Given the description of an element on the screen output the (x, y) to click on. 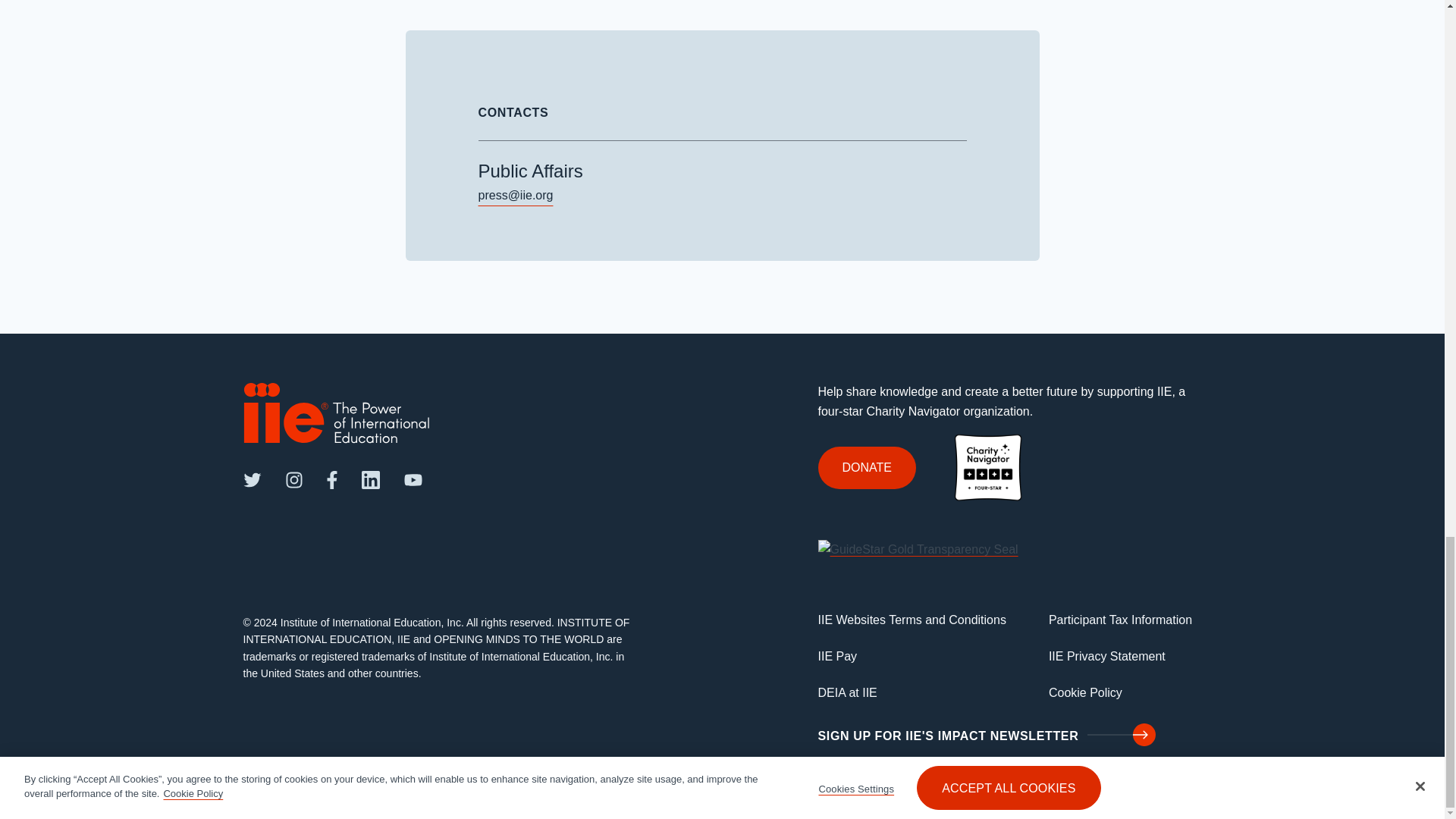
View IIE on GuideStar (916, 548)
View IIE on the Charity Navigator (987, 466)
